Given the description of an element on the screen output the (x, y) to click on. 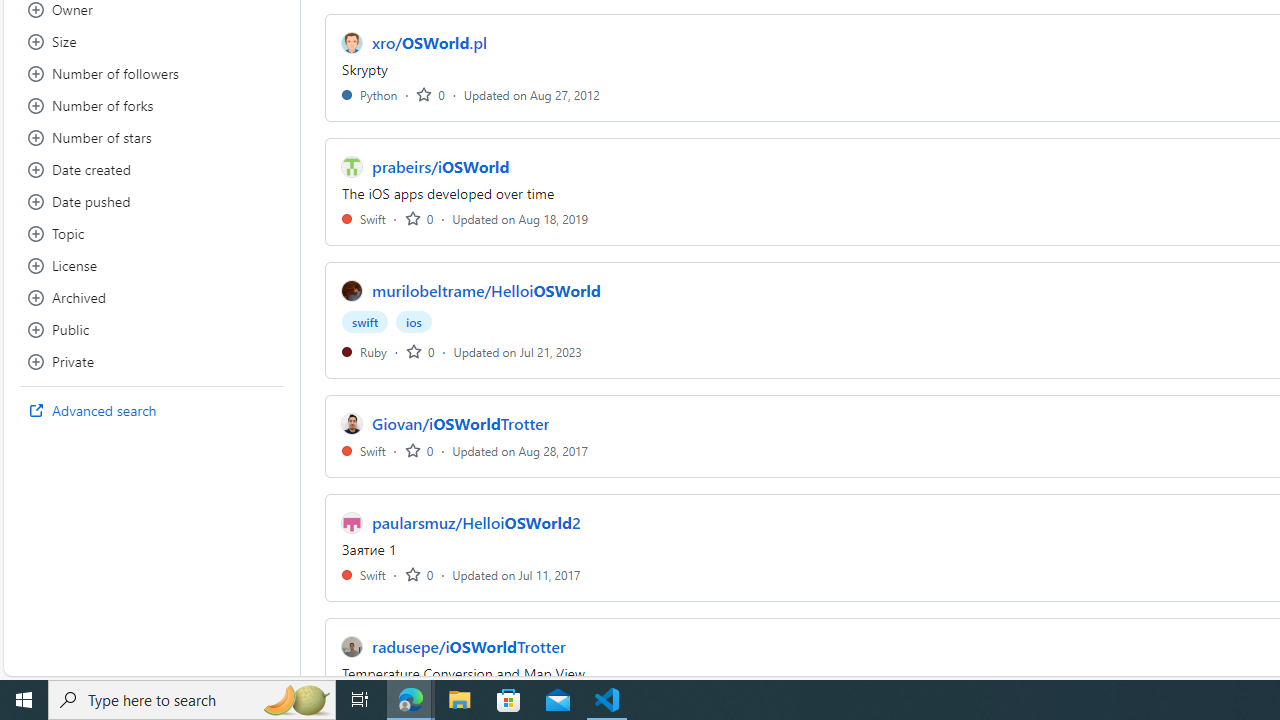
Updated on Jul 11, 2017 (516, 574)
0 (418, 574)
ios (413, 321)
Ruby (363, 351)
Python (369, 93)
